Given the description of an element on the screen output the (x, y) to click on. 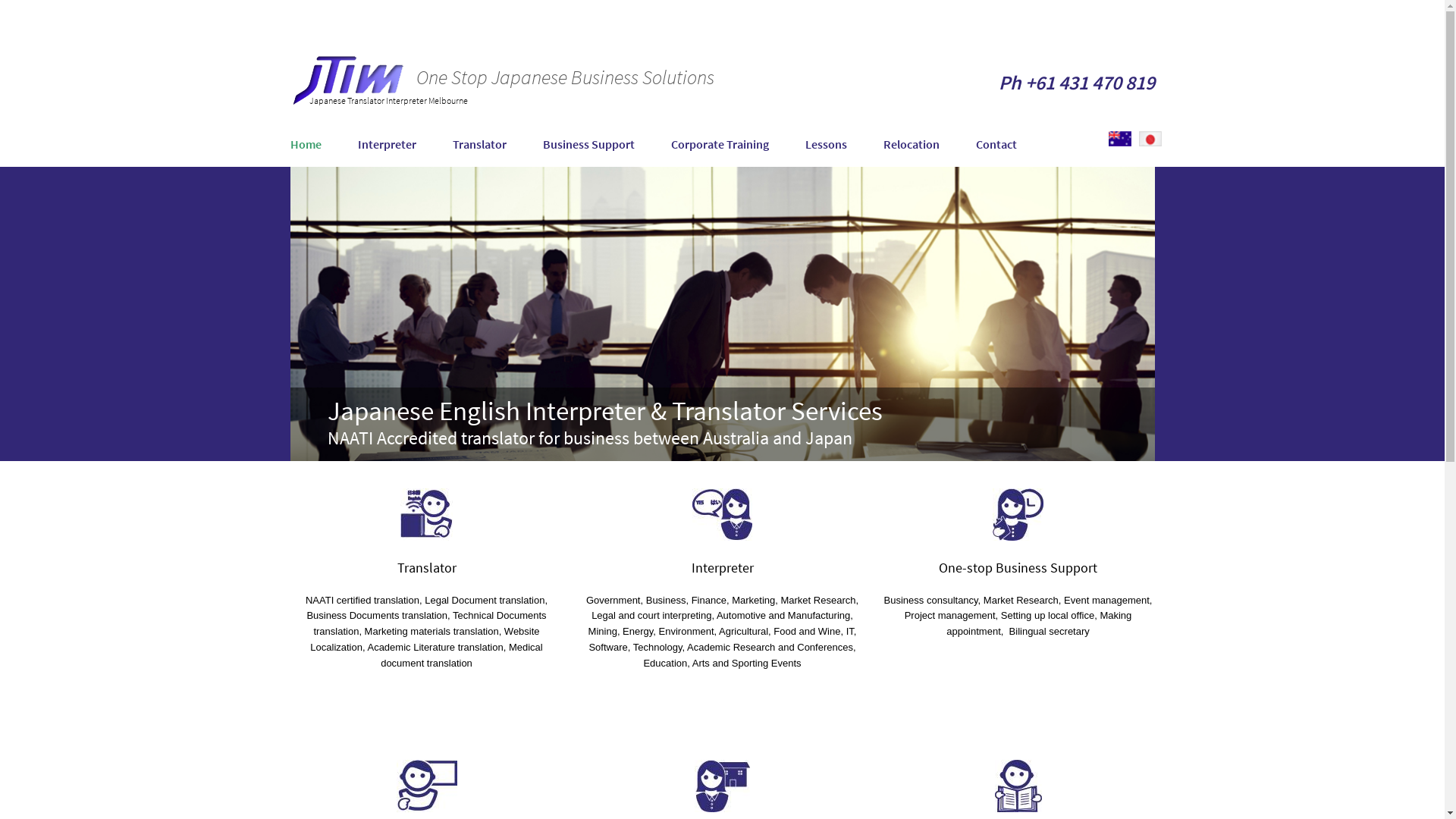
One-stop Business Support Element type: text (1017, 567)
Contact Element type: text (995, 144)
English Element type: hover (1119, 138)
Corporate Training Element type: text (737, 144)
Translator Element type: text (496, 144)
Lessons Element type: text (844, 144)
Home Element type: text (323, 144)
Interpreter Element type: text (722, 567)
Translator Element type: text (426, 567)
Relocation Element type: text (928, 144)
Interpreter Element type: text (404, 144)
Business Support Element type: text (606, 144)
